Given the description of an element on the screen output the (x, y) to click on. 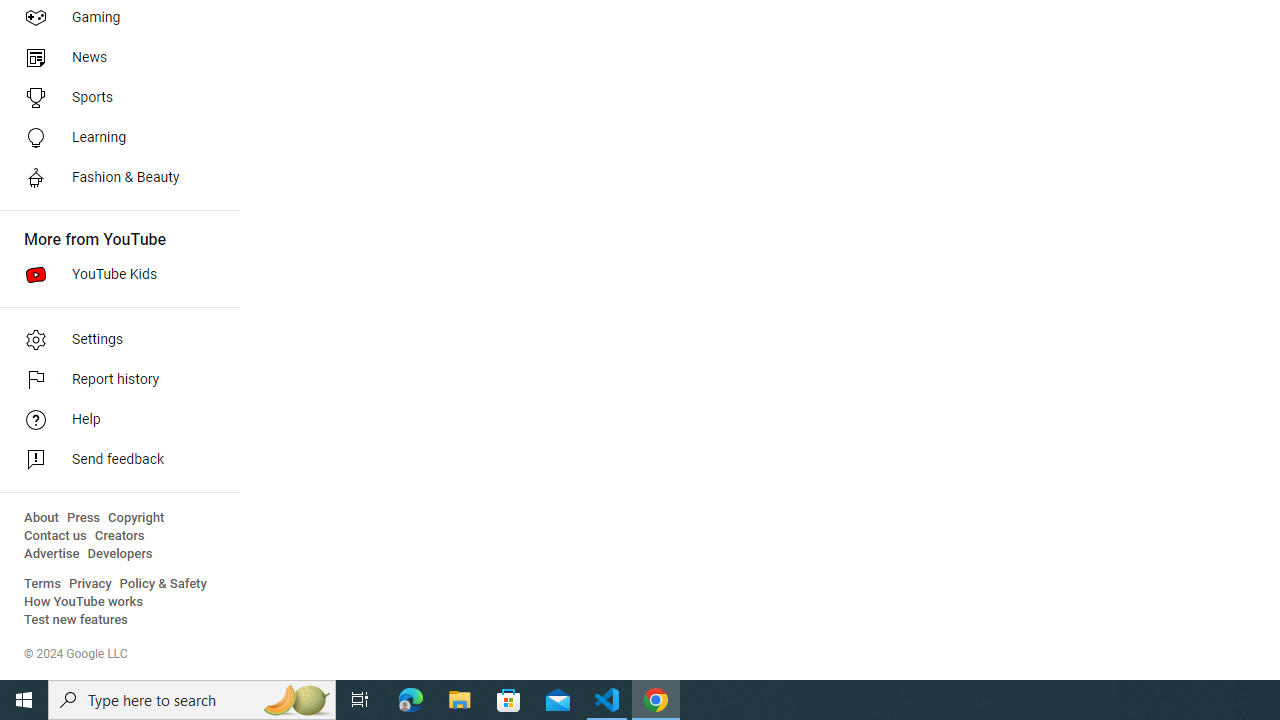
How YouTube works (83, 602)
Developers (120, 554)
Settings (113, 339)
Copyright (136, 518)
Policy & Safety (163, 584)
Report history (113, 380)
Press (83, 518)
Creators (118, 536)
Help (113, 419)
Learning (113, 137)
Sports (113, 97)
Test new features (76, 620)
Contact us (55, 536)
Privacy (89, 584)
Fashion & Beauty (113, 177)
